Given the description of an element on the screen output the (x, y) to click on. 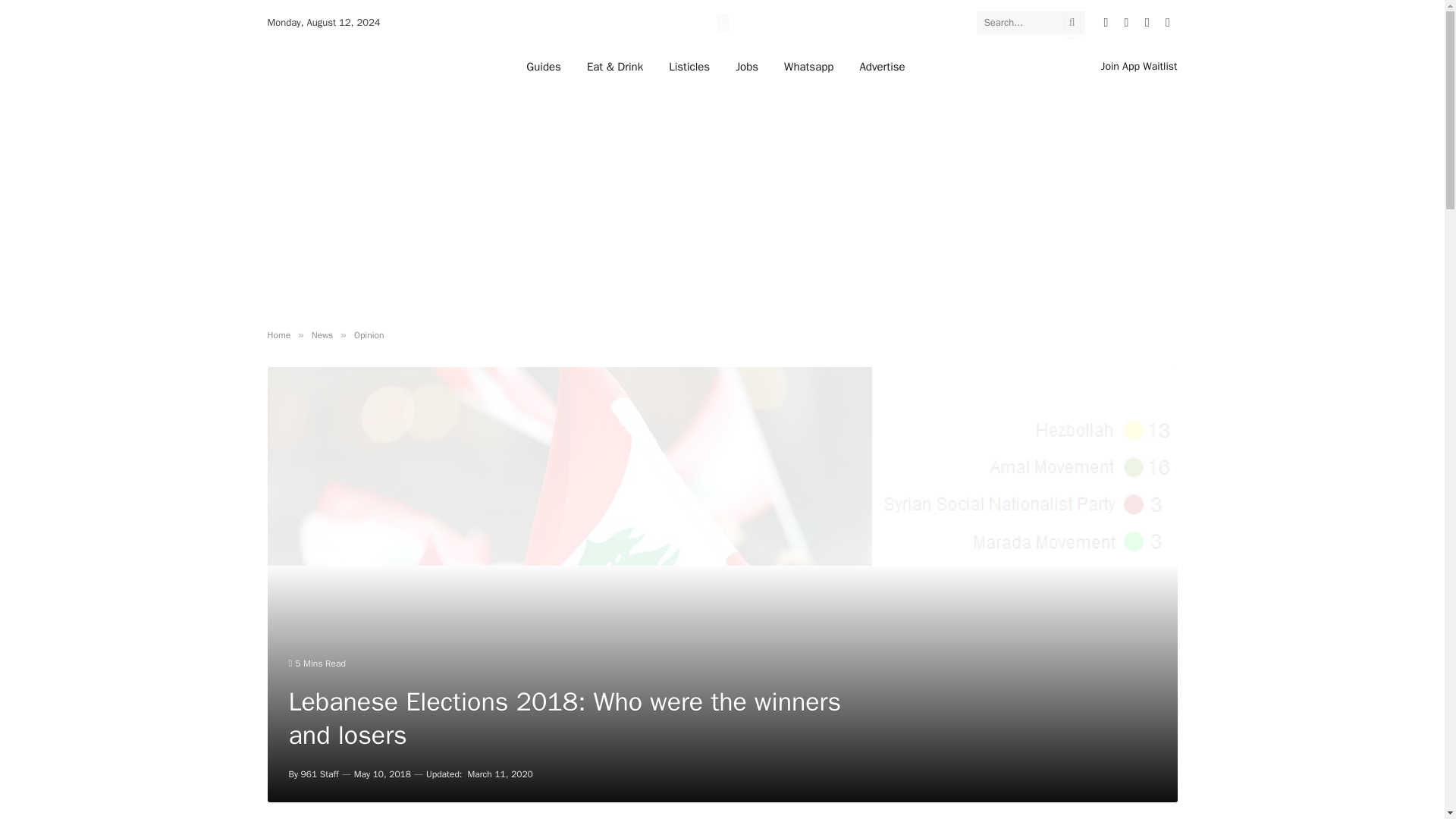
News (322, 335)
Opinion (368, 335)
Posts by 961 Staff (320, 774)
961 Staff (320, 774)
Home (277, 335)
Guides (543, 65)
Advertise (881, 65)
Whatsapp (808, 65)
